Given the description of an element on the screen output the (x, y) to click on. 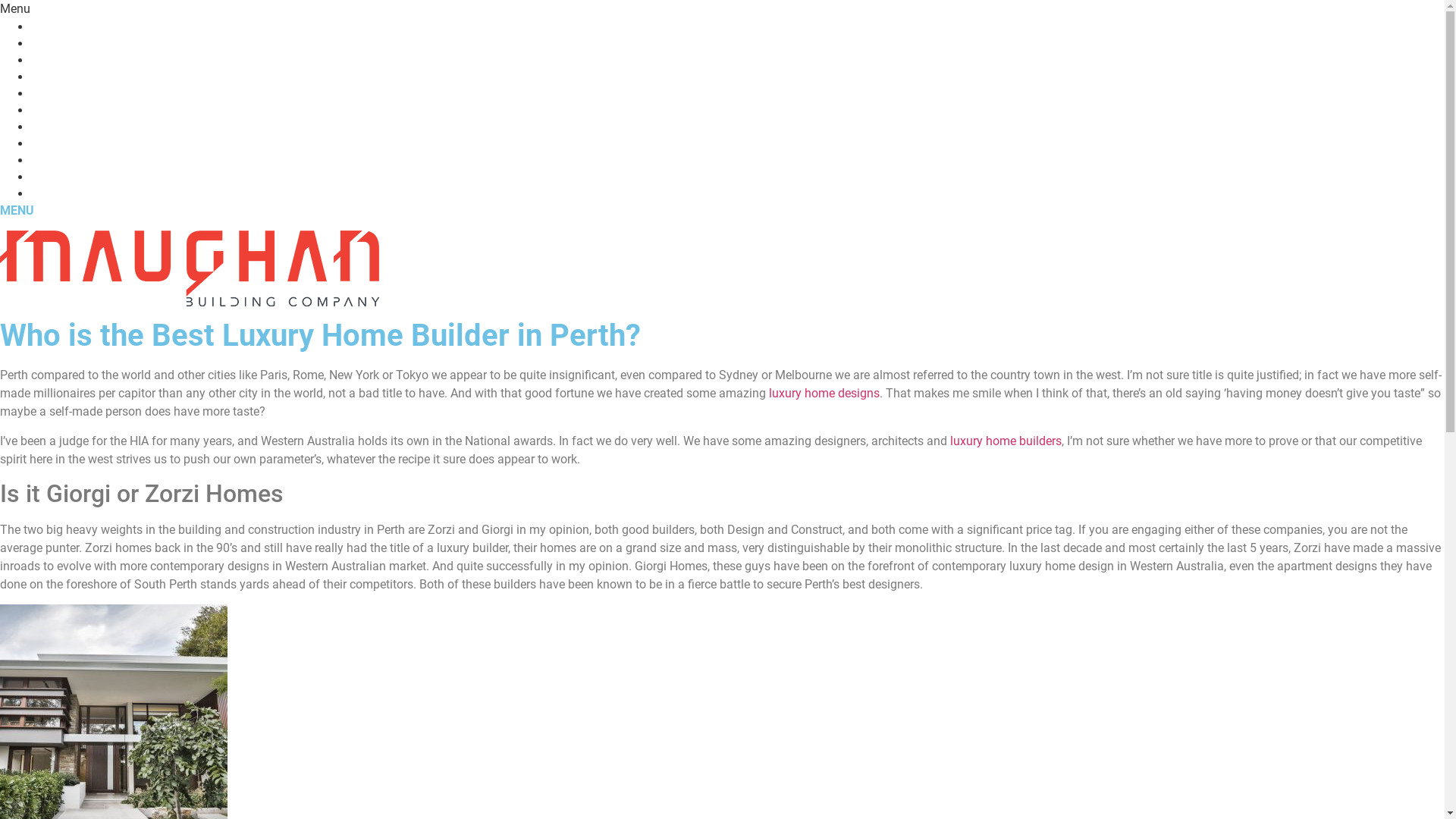
WHY MAUGHAN? Element type: text (737, 76)
FREE EBOOK Element type: text (737, 60)
CUSTOM HOME DESIGNS Element type: text (737, 43)
IN THE MEDIA Element type: text (737, 126)
luxury home builders Element type: text (1005, 440)
WHAT OUR CLIENTS SAY Element type: text (737, 160)
ABOUT US Element type: text (737, 177)
OUR SAY Element type: text (737, 143)
luxury home designs Element type: text (823, 392)
OUR PROCESS Element type: text (737, 93)
HOME Element type: text (737, 26)
BUILDING TIPS Element type: text (737, 110)
CONTACT US Element type: text (737, 193)
